Given the description of an element on the screen output the (x, y) to click on. 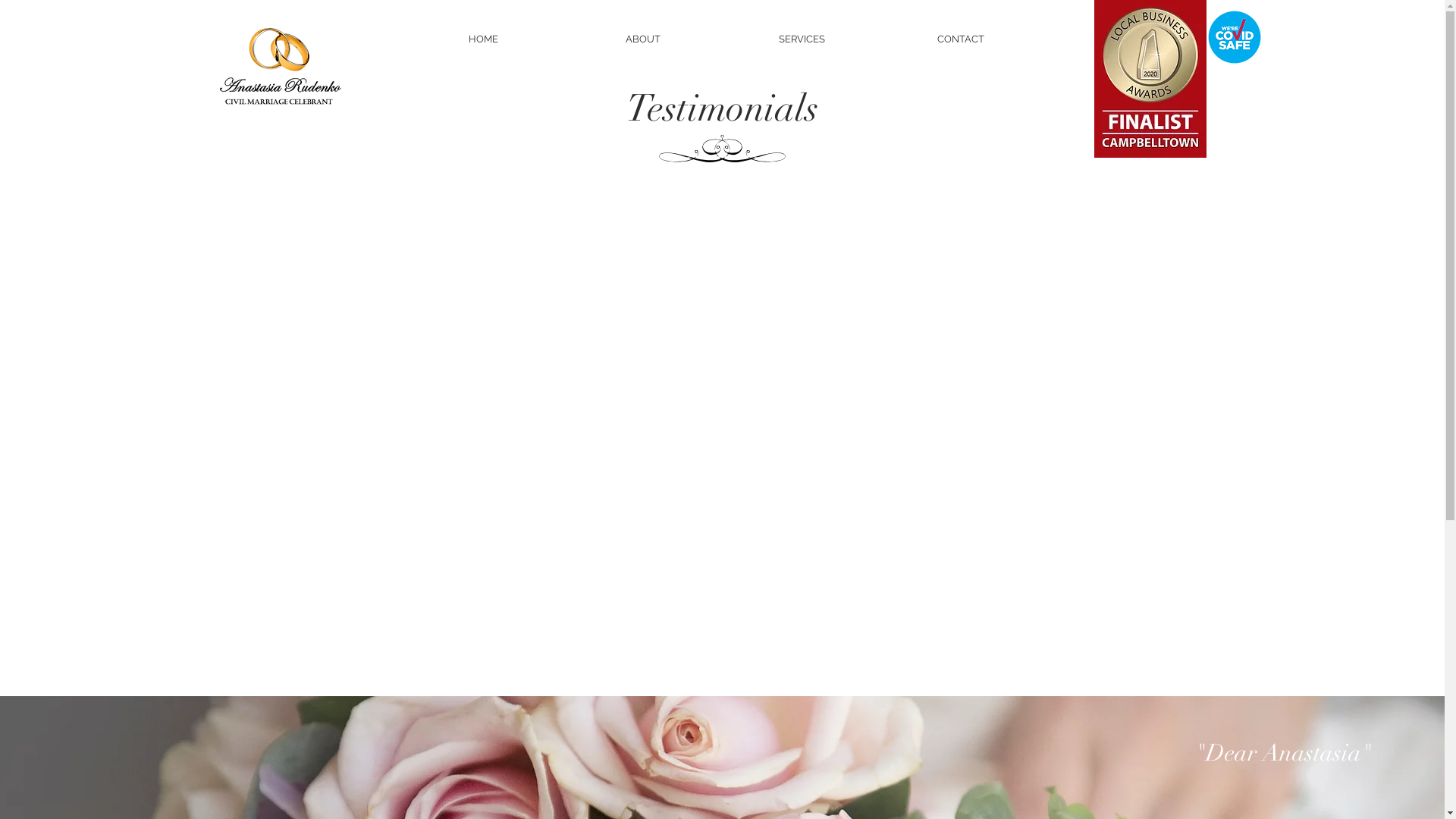
SERVICES Element type: text (802, 38)
ABOUT Element type: text (642, 38)
HOME Element type: text (483, 38)
CONTACT Element type: text (960, 38)
